Given the description of an element on the screen output the (x, y) to click on. 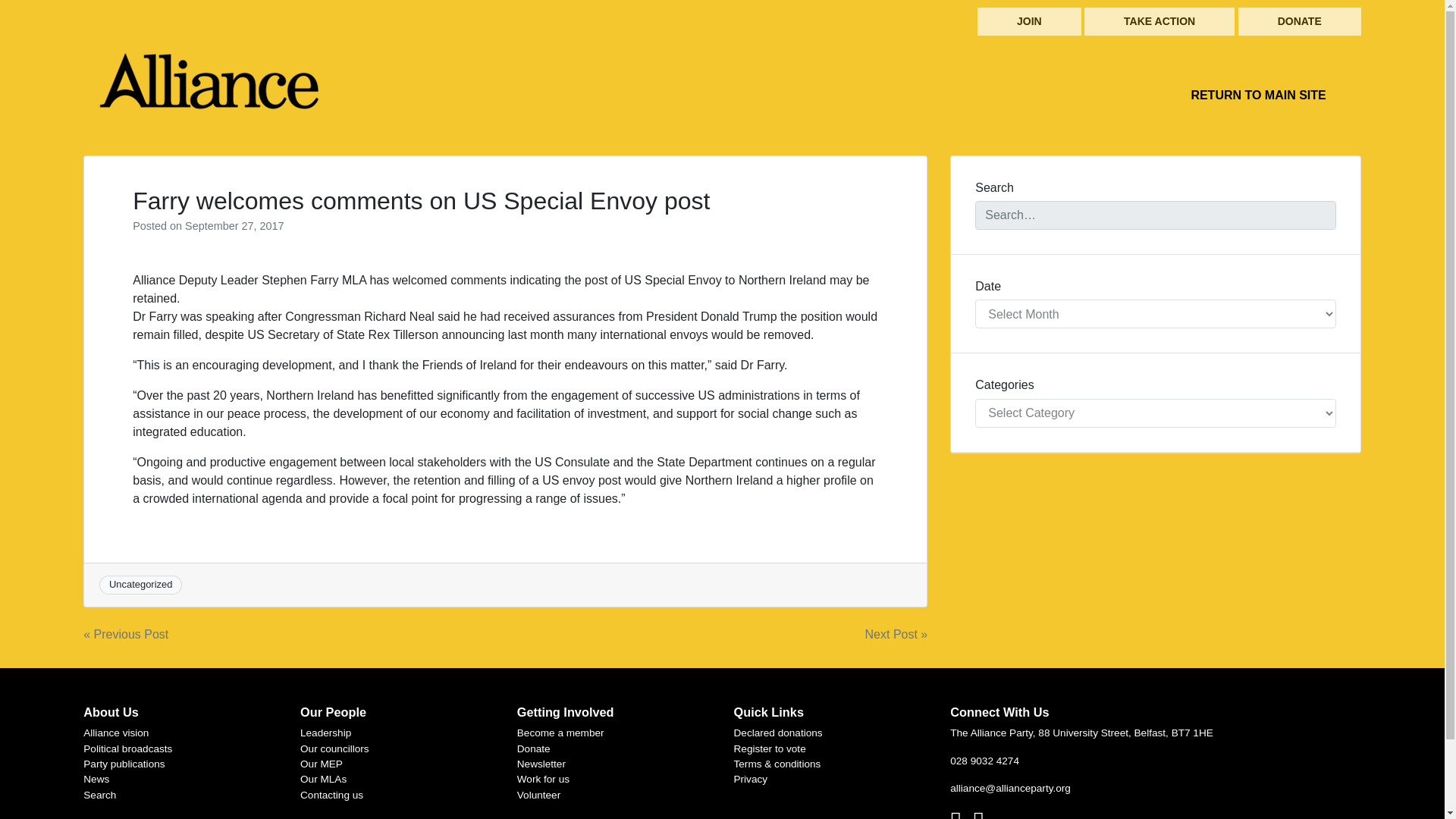
Leadership (324, 732)
028 9032 4274 (984, 760)
Newsletter (541, 763)
Contacting us (330, 794)
Privacy (750, 778)
Alliance vision (115, 732)
DONATE (1300, 21)
Our councillors (334, 748)
Register to vote (769, 748)
Political broadcasts (126, 748)
Declared donations (777, 732)
Volunteer (538, 794)
Work for us (542, 778)
News (95, 778)
Our MEP (320, 763)
